Given the description of an element on the screen output the (x, y) to click on. 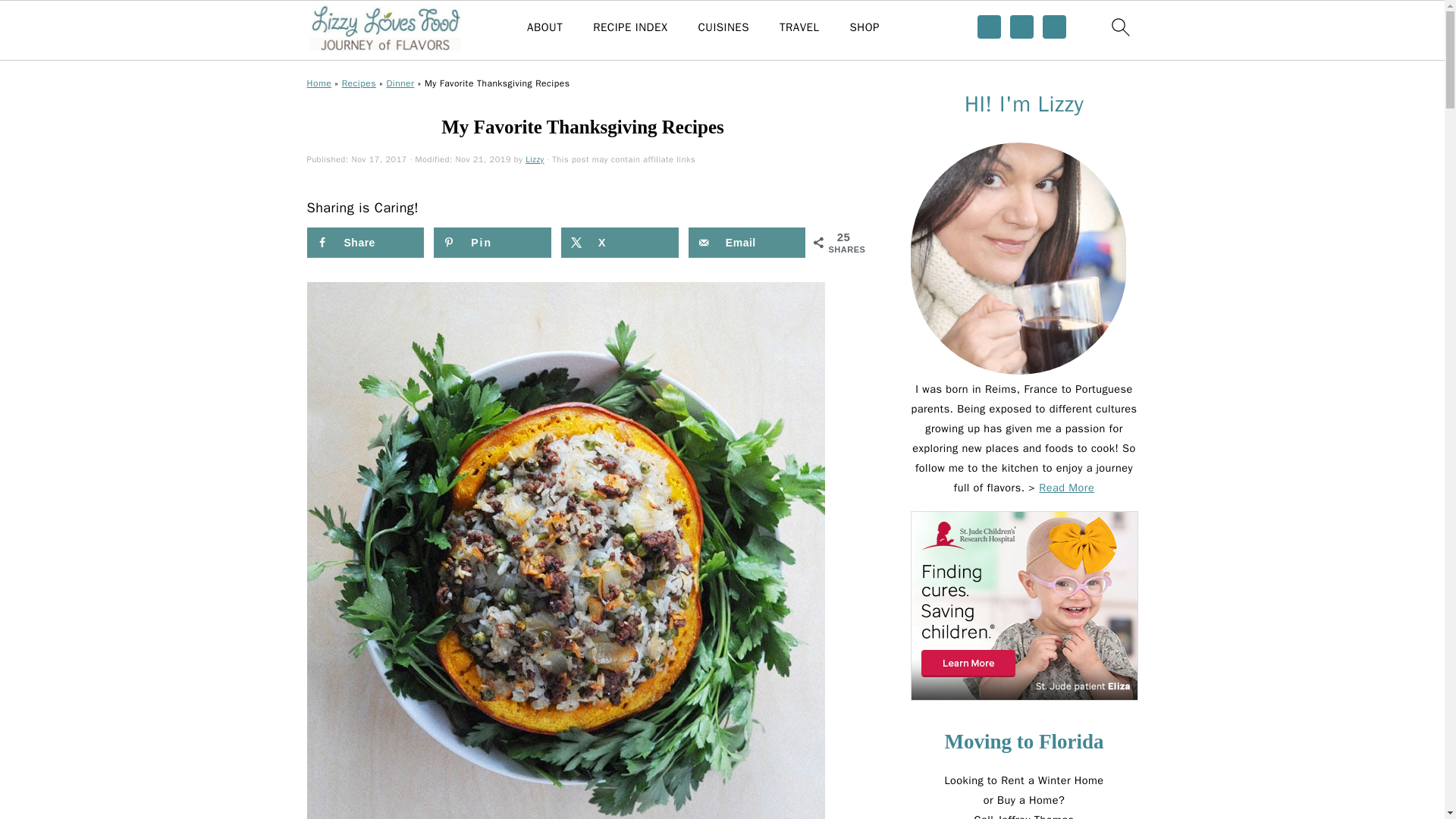
Travel  (798, 27)
Save to Pinterest (492, 242)
Share on Facebook (364, 242)
Recipe Index (629, 27)
TRAVEL (798, 27)
CUISINES (723, 27)
search icon (1119, 26)
Cuisines Around the World (723, 27)
SHOP (863, 27)
